Given the description of an element on the screen output the (x, y) to click on. 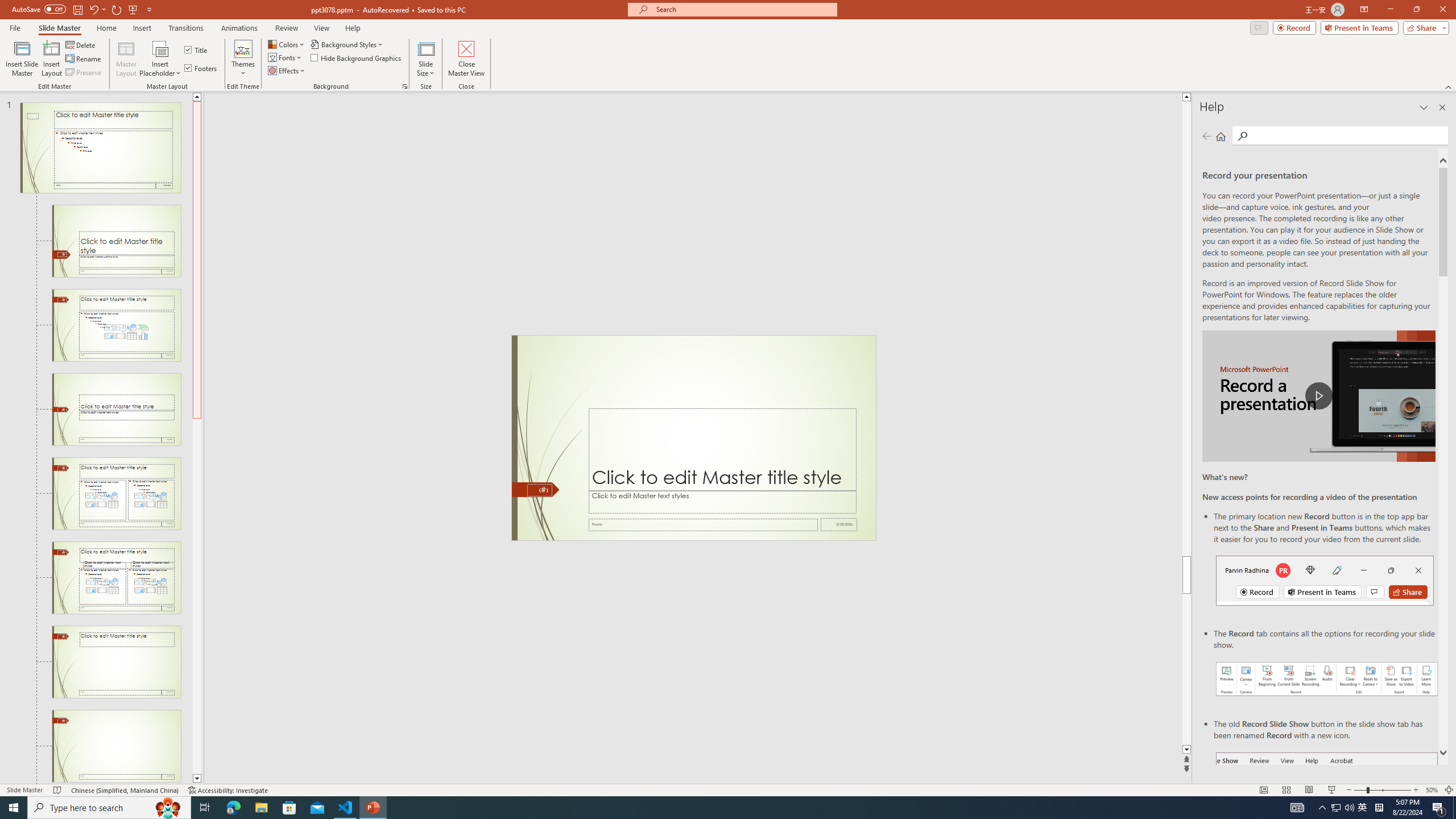
Page down (197, 595)
Microsoft search (742, 9)
Insert Placeholder (160, 58)
Close pane (1441, 107)
Insert Layout (51, 58)
Date (839, 524)
Footer (703, 524)
Content (160, 48)
